Given the description of an element on the screen output the (x, y) to click on. 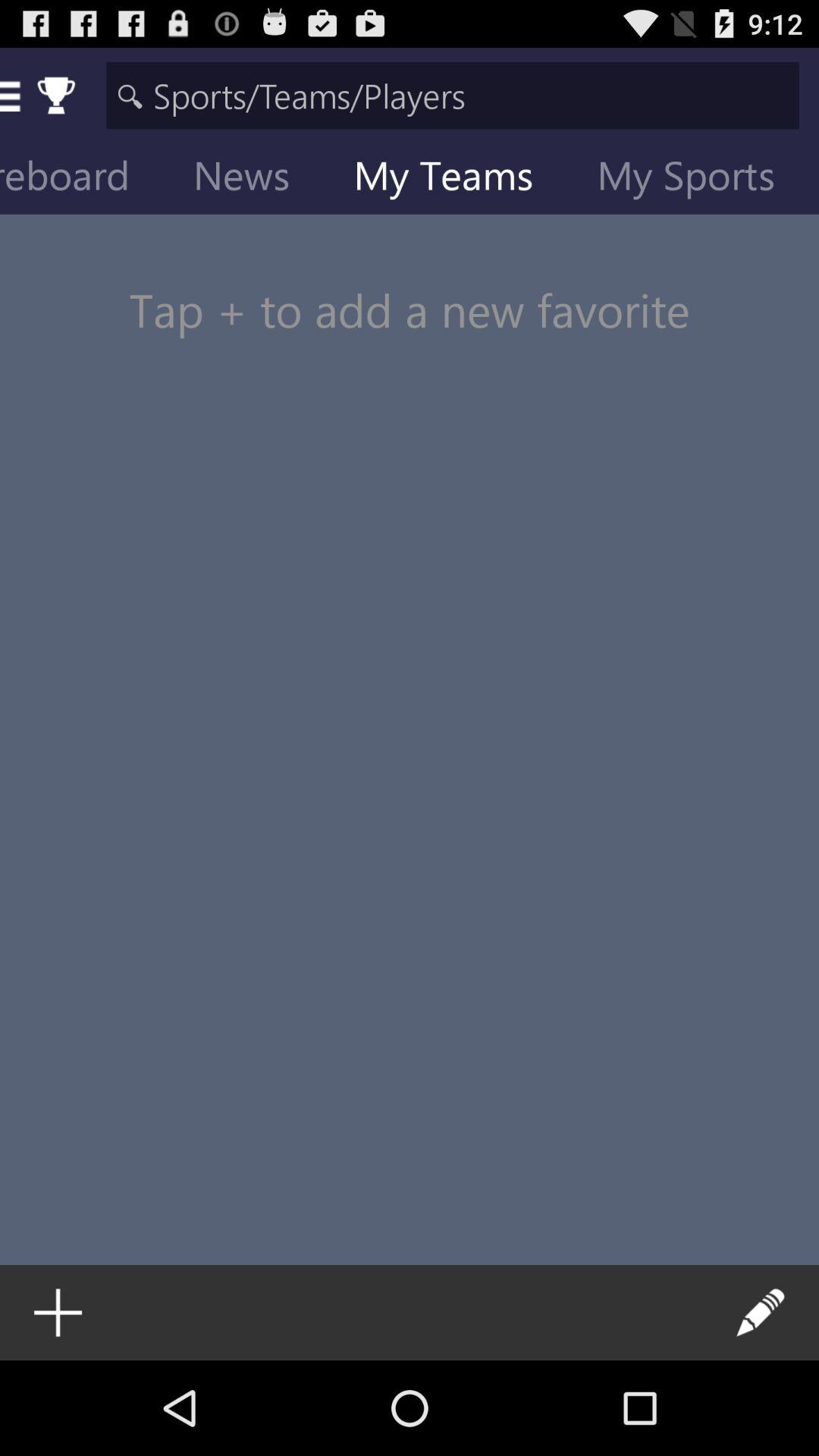
select the icon at the bottom right corner (760, 1312)
